Given the description of an element on the screen output the (x, y) to click on. 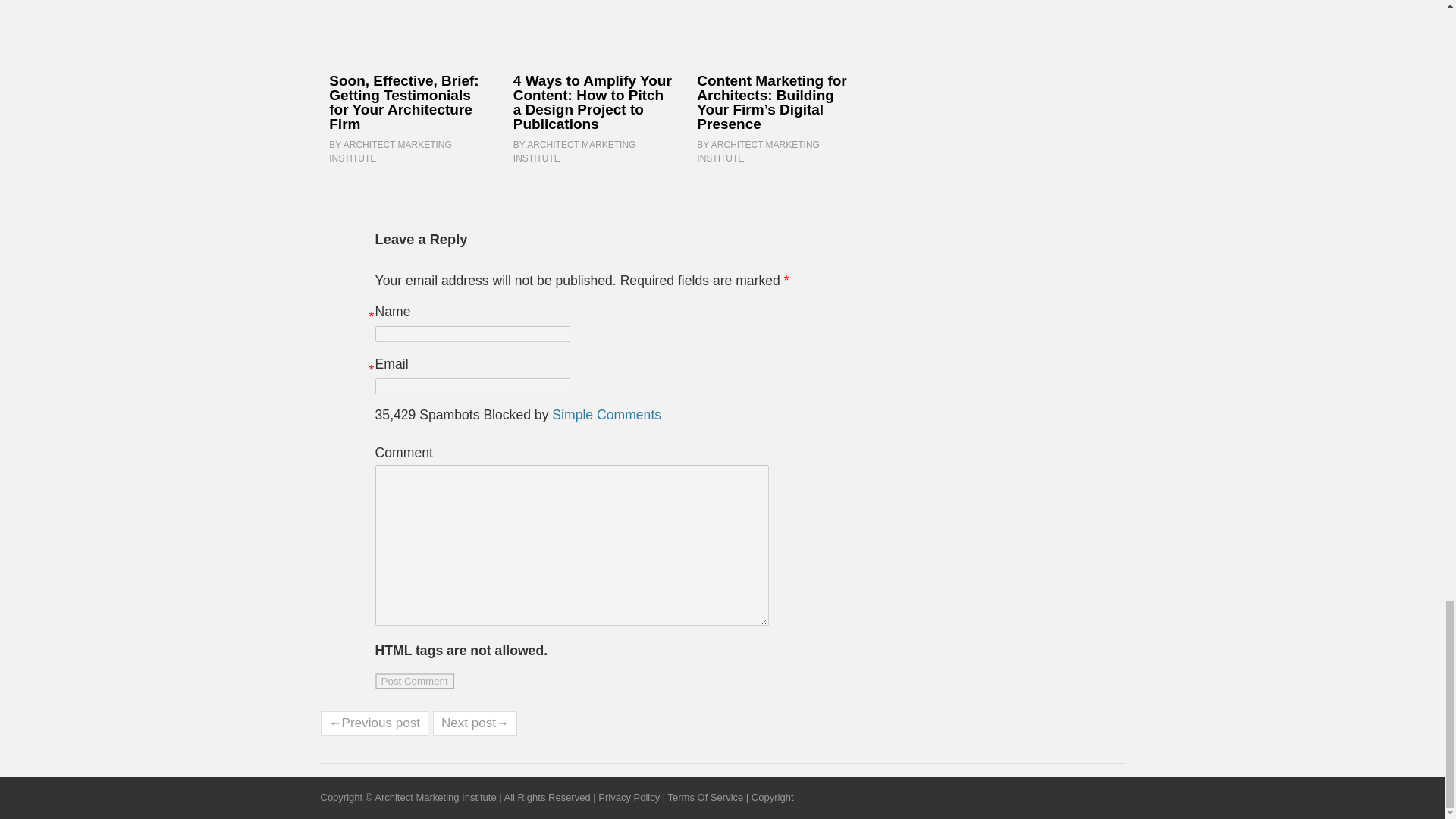
Simple Comments (606, 414)
Post Comment (414, 681)
Post Comment (414, 681)
ARCHITECT MARKETING INSTITUTE (758, 151)
Simple Comments (606, 414)
ARCHITECT MARKETING INSTITUTE (390, 151)
ARCHITECT MARKETING INSTITUTE (574, 151)
